Given the description of an element on the screen output the (x, y) to click on. 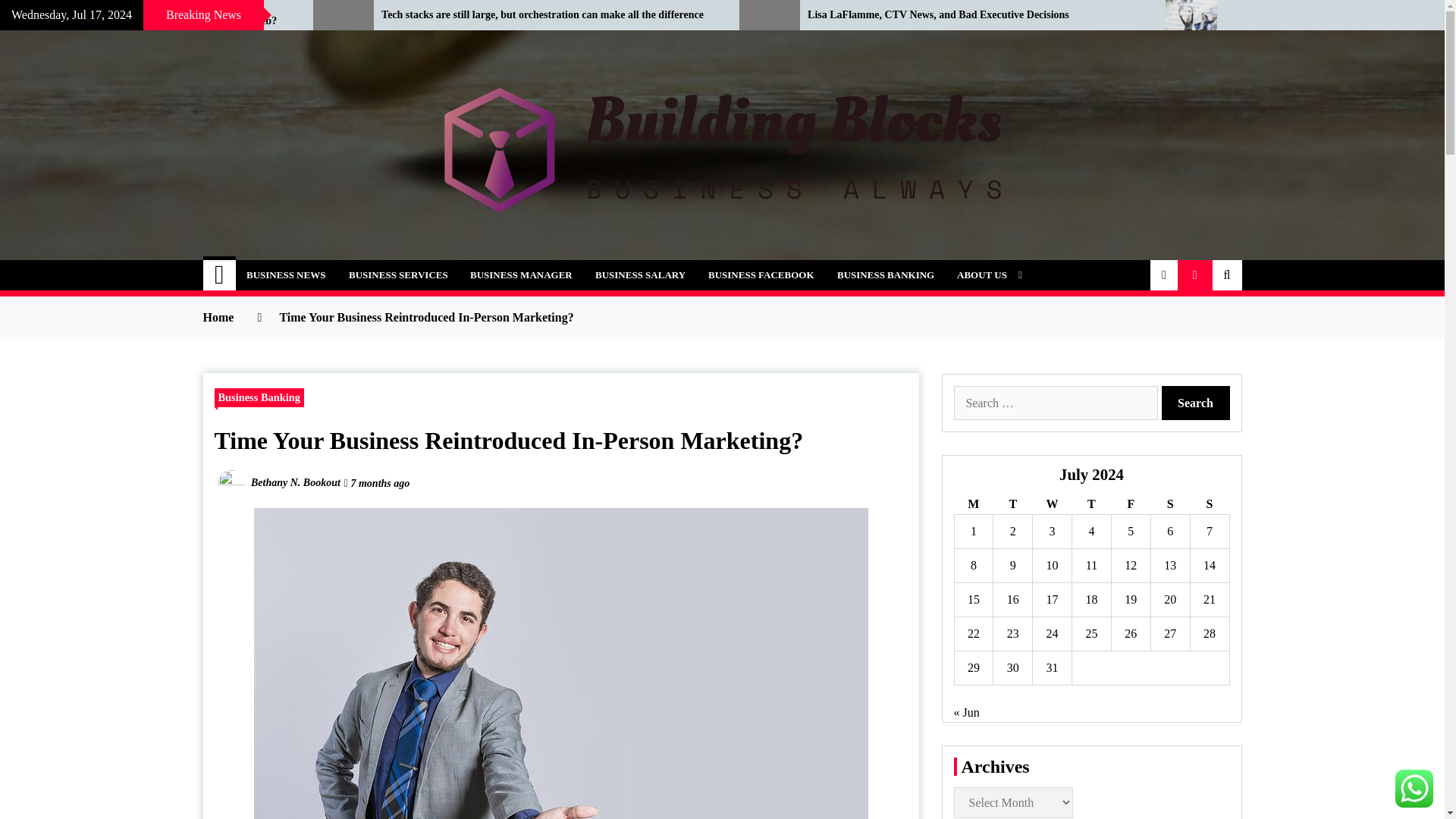
Search (1195, 402)
Tuesday (1012, 504)
Monday (972, 504)
Home (219, 275)
Wednesday (1051, 504)
Search (1195, 402)
Thursday (1091, 504)
Friday (1130, 504)
Lisa LaFlamme, CTV News, and Bad Executive Decisions (975, 15)
